Given the description of an element on the screen output the (x, y) to click on. 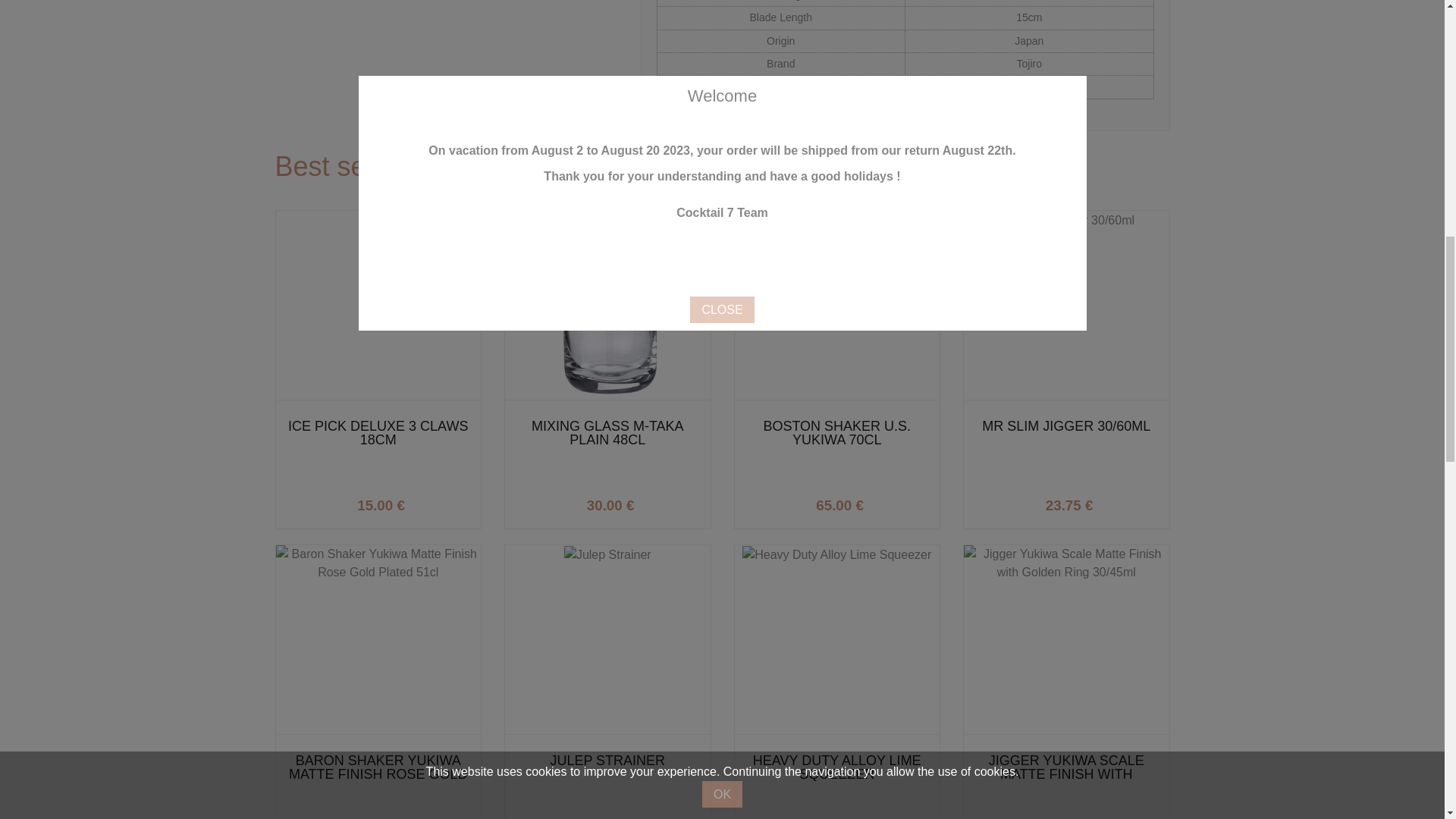
More info (1111, 501)
Add to cart (882, 501)
More info (424, 501)
More info (653, 501)
Add to cart (424, 501)
More info (882, 501)
Add to cart (1111, 501)
